Given the description of an element on the screen output the (x, y) to click on. 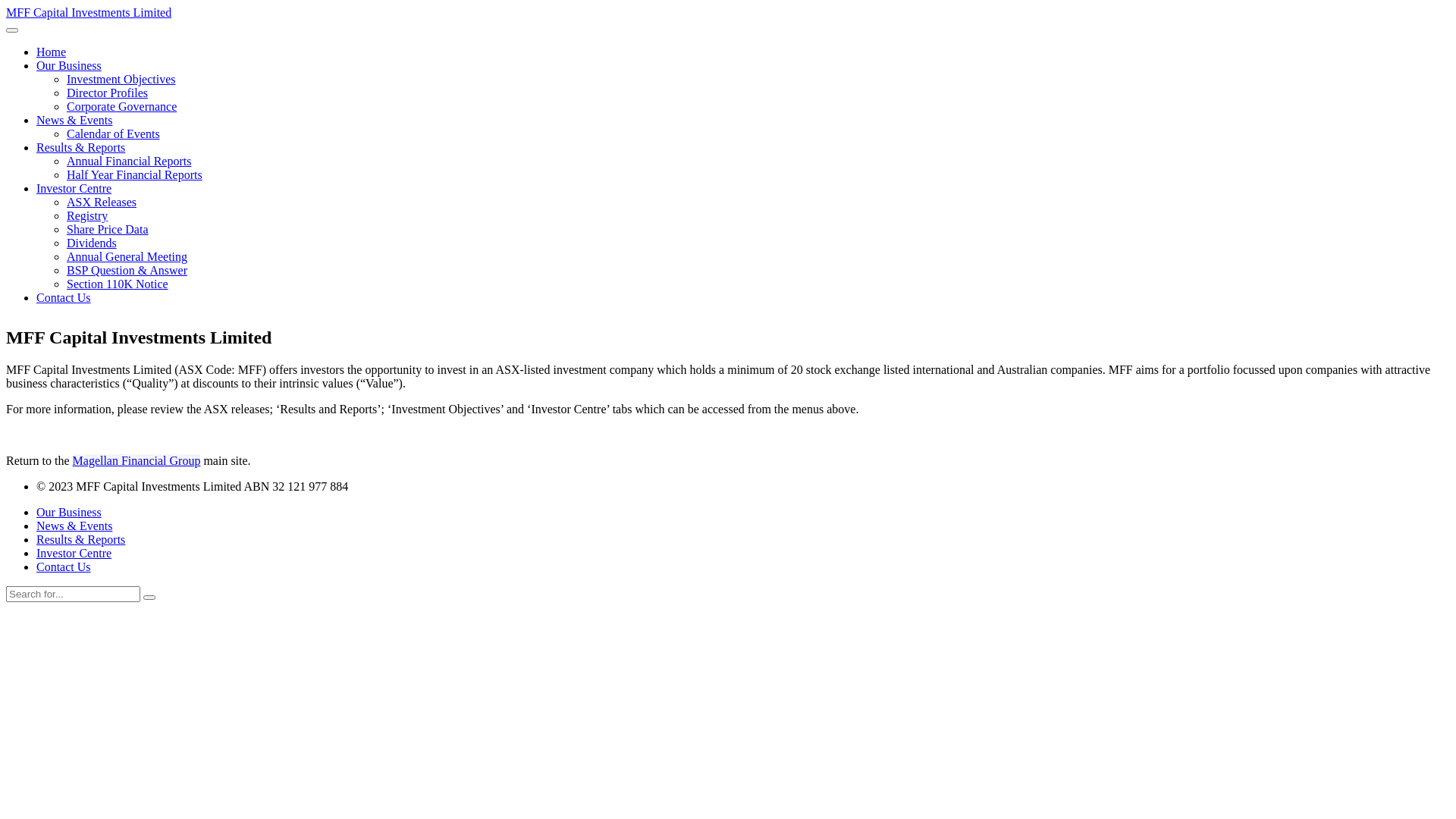
Home Element type: text (50, 51)
BSP Question & Answer Element type: text (126, 269)
Share Price Data Element type: text (107, 228)
News & Events Element type: text (74, 525)
Dividends Element type: text (91, 242)
Half Year Financial Reports Element type: text (134, 174)
Our Business Element type: text (68, 511)
Results & Reports Element type: text (80, 539)
ASX Releases Element type: text (101, 201)
Contact Us Element type: text (63, 566)
Investment Objectives Element type: text (120, 78)
Magellan Financial Group Element type: text (136, 460)
Registry Element type: text (86, 215)
Annual General Meeting Element type: text (126, 256)
Investor Centre Element type: text (73, 188)
Corporate Governance Element type: text (121, 106)
Contact Us Element type: text (63, 297)
Calendar of Events Element type: text (113, 133)
News & Events Element type: text (74, 119)
Our Business Element type: text (68, 65)
Investor Centre Element type: text (73, 552)
Section 110K Notice Element type: text (117, 283)
Director Profiles Element type: text (106, 92)
Results & Reports Element type: text (80, 147)
MFF Capital Investments Limited Element type: text (88, 12)
Annual Financial Reports Element type: text (128, 160)
